Given the description of an element on the screen output the (x, y) to click on. 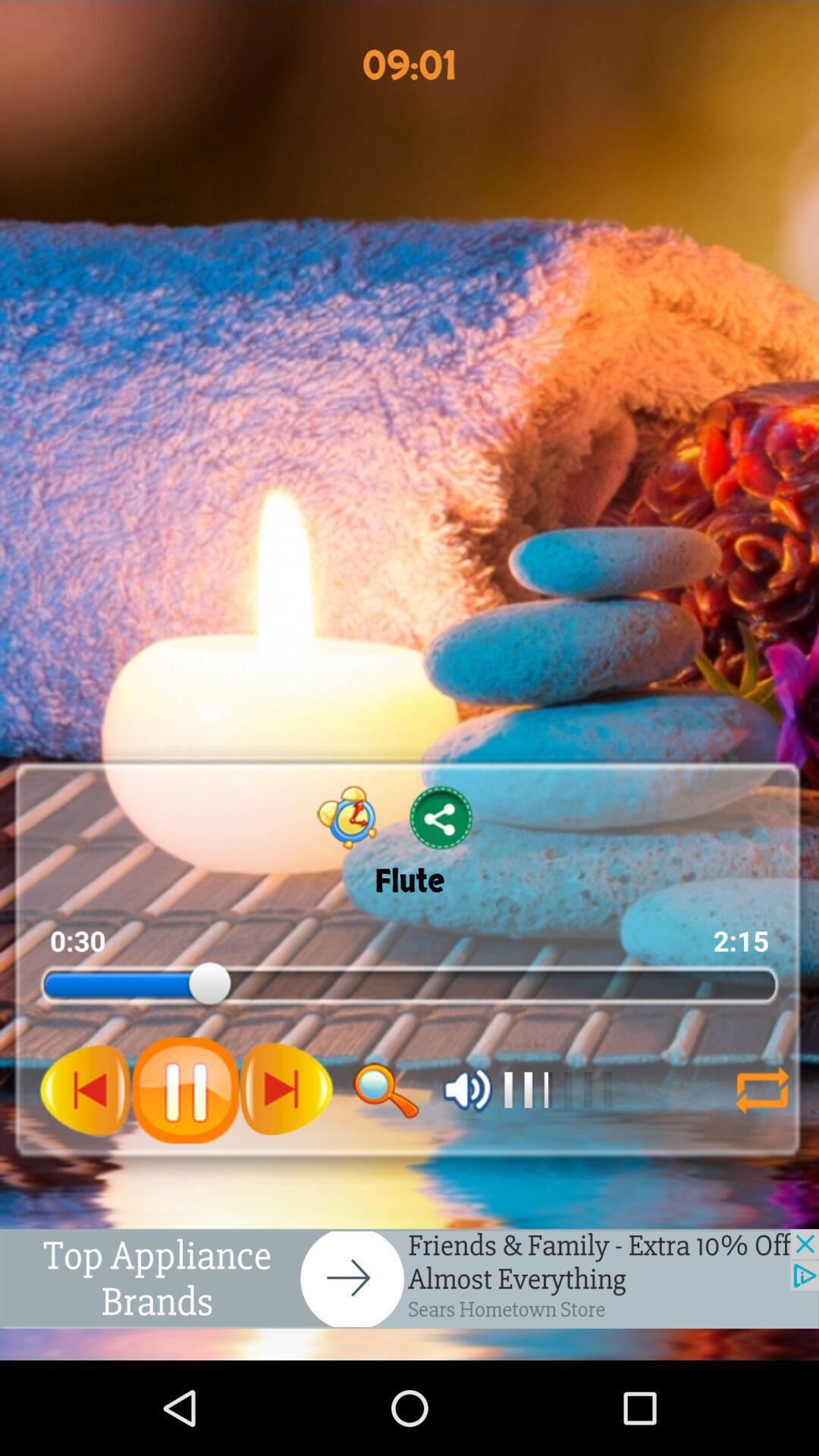
go to sound option (467, 1089)
